Given the description of an element on the screen output the (x, y) to click on. 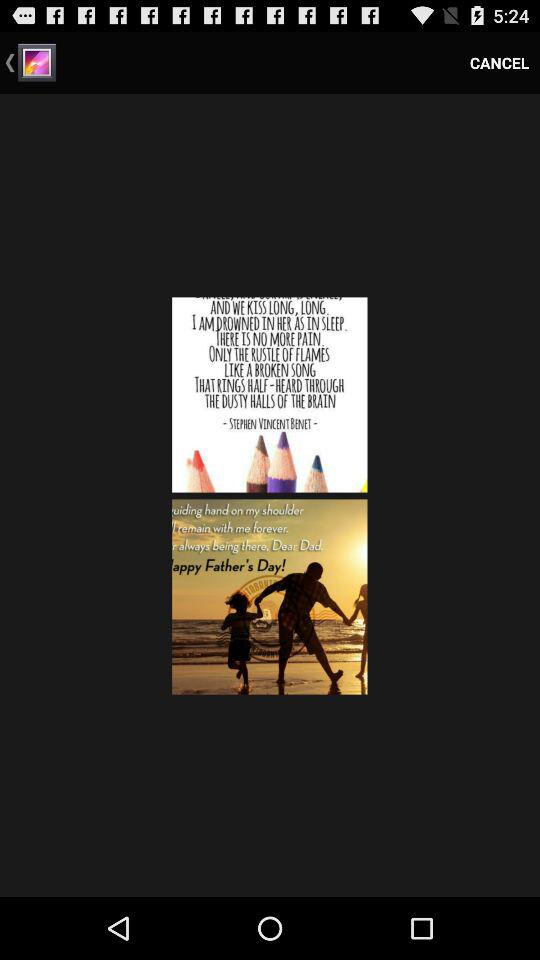
jump to cancel item (499, 62)
